Given the description of an element on the screen output the (x, y) to click on. 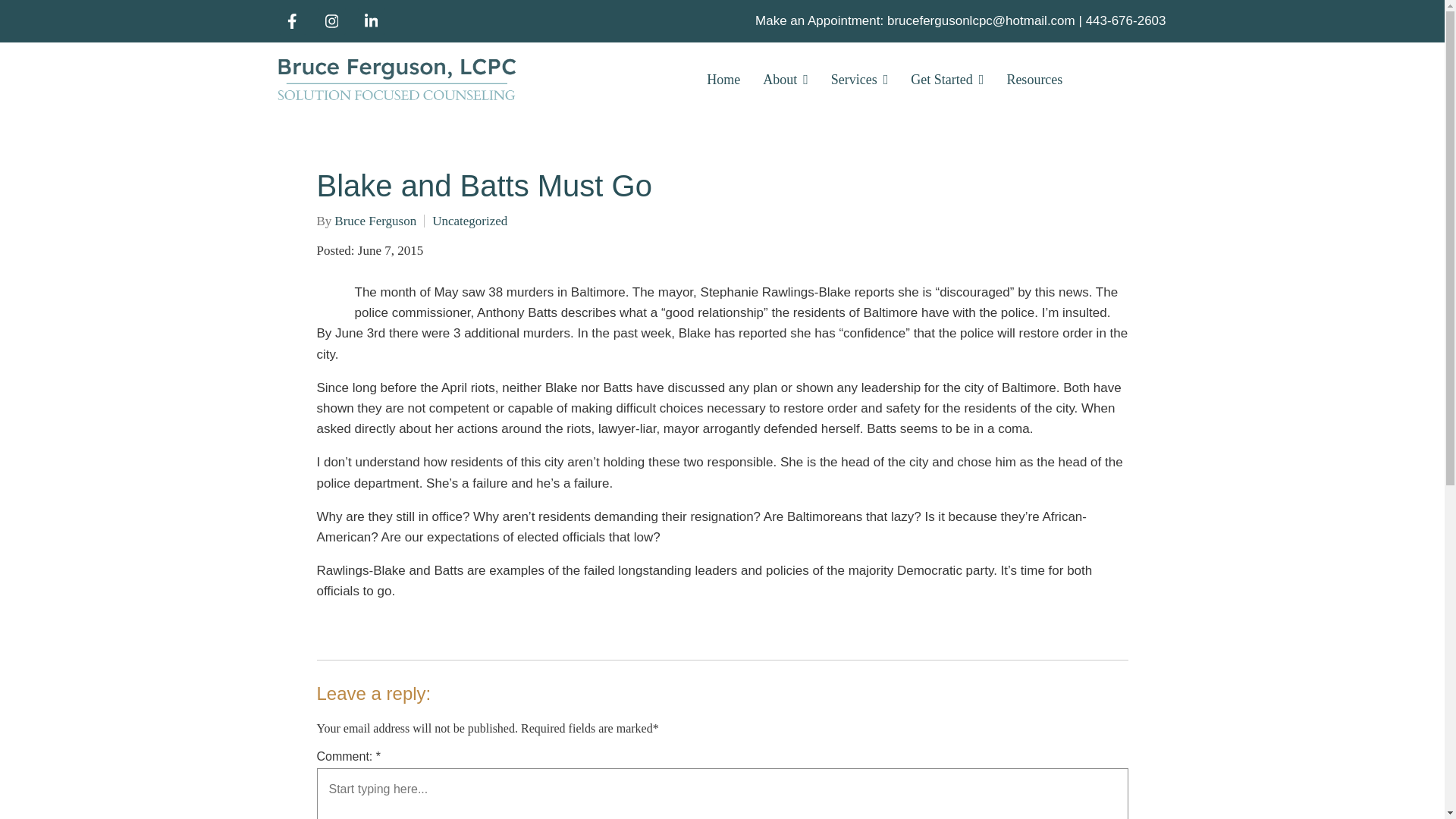
Resources (1034, 79)
Get Started (947, 79)
443-676-2603 (1126, 20)
Services (859, 79)
Home (722, 79)
Contact (1125, 79)
Posts by Bruce Ferguson (375, 220)
About (785, 79)
